Given the description of an element on the screen output the (x, y) to click on. 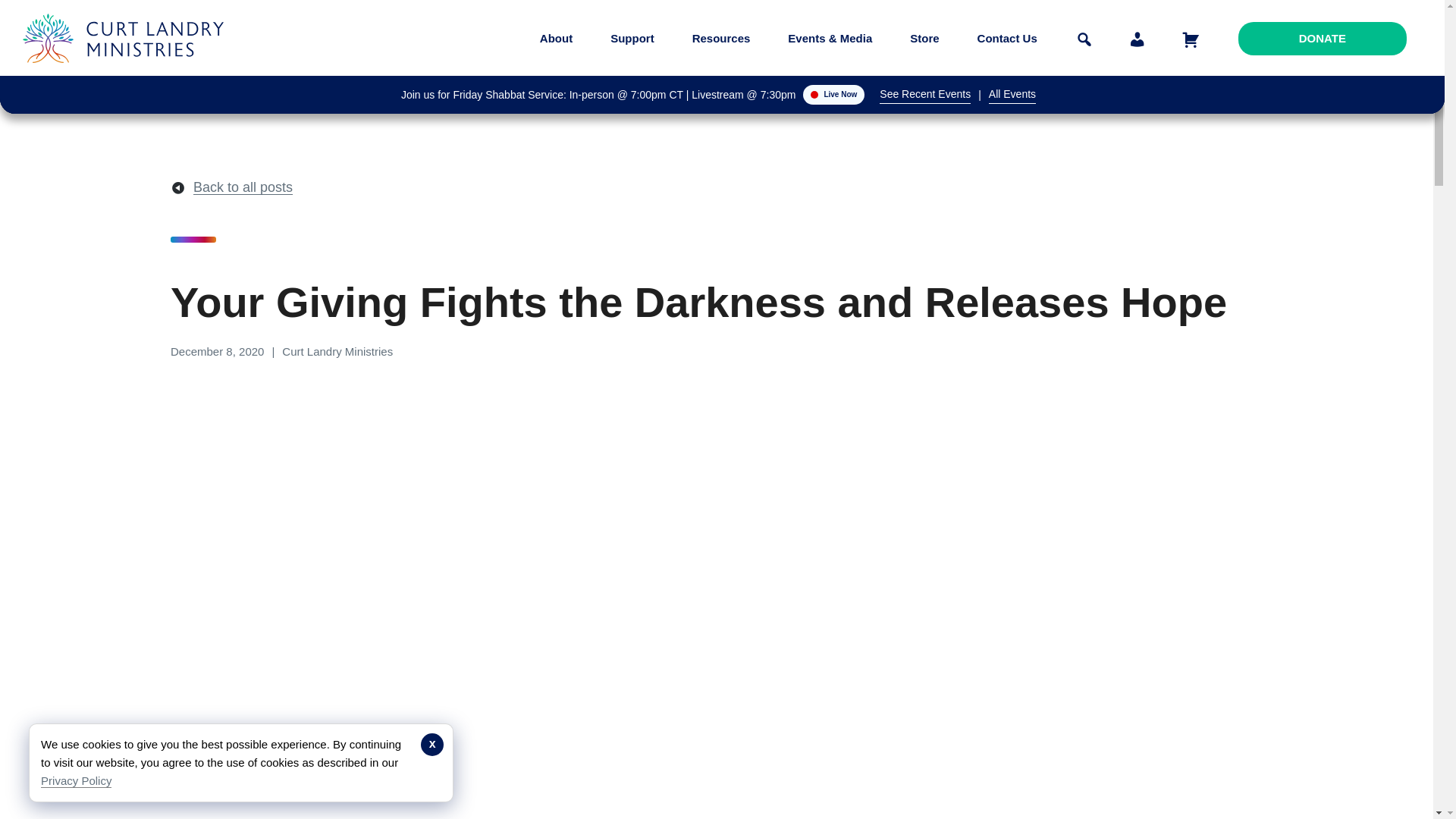
Store (924, 38)
Curt Landry Ministries (127, 74)
Support (631, 38)
About (556, 38)
Resources (721, 38)
